Given the description of an element on the screen output the (x, y) to click on. 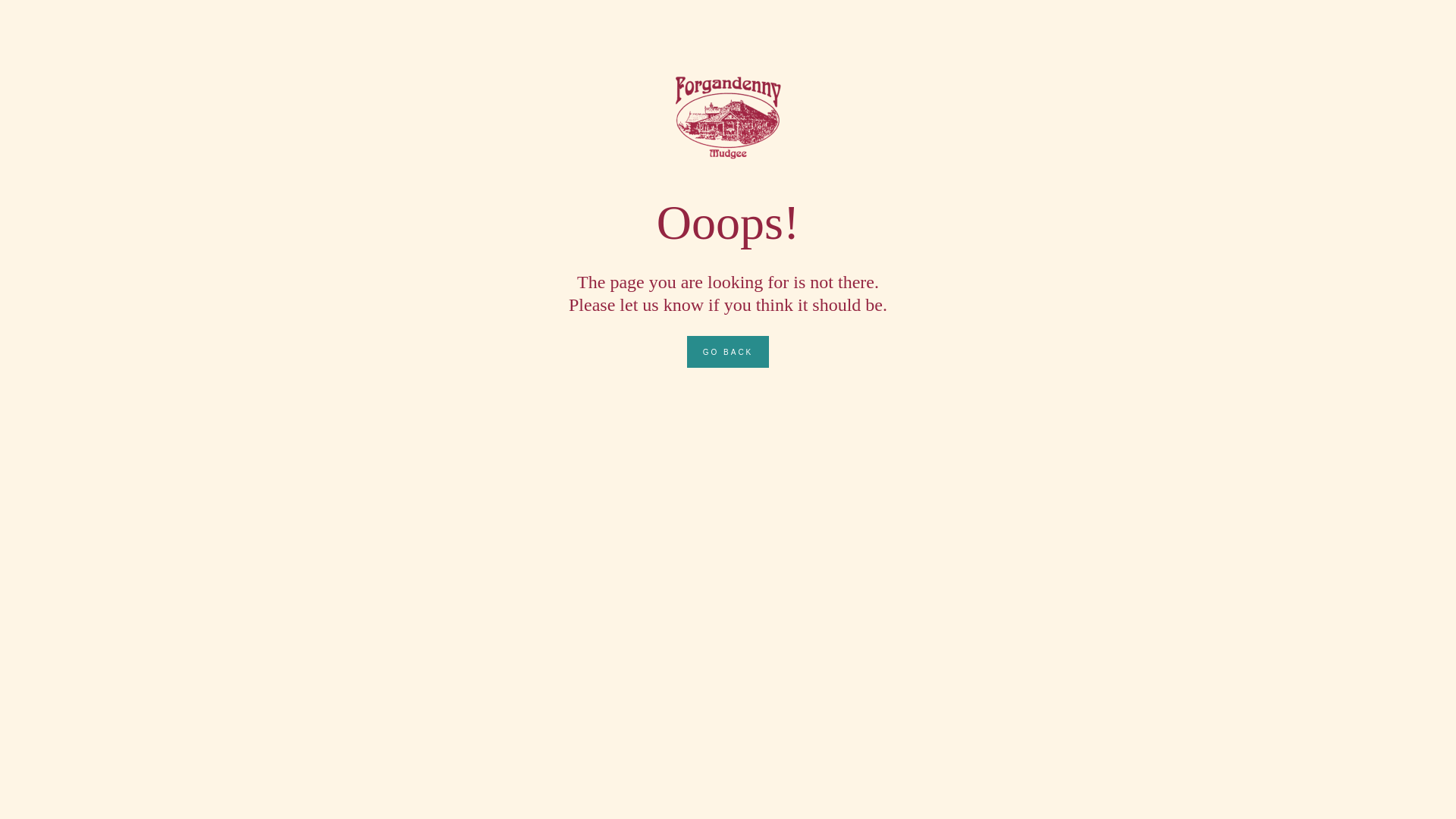
GO BACK Element type: text (727, 351)
